Given the description of an element on the screen output the (x, y) to click on. 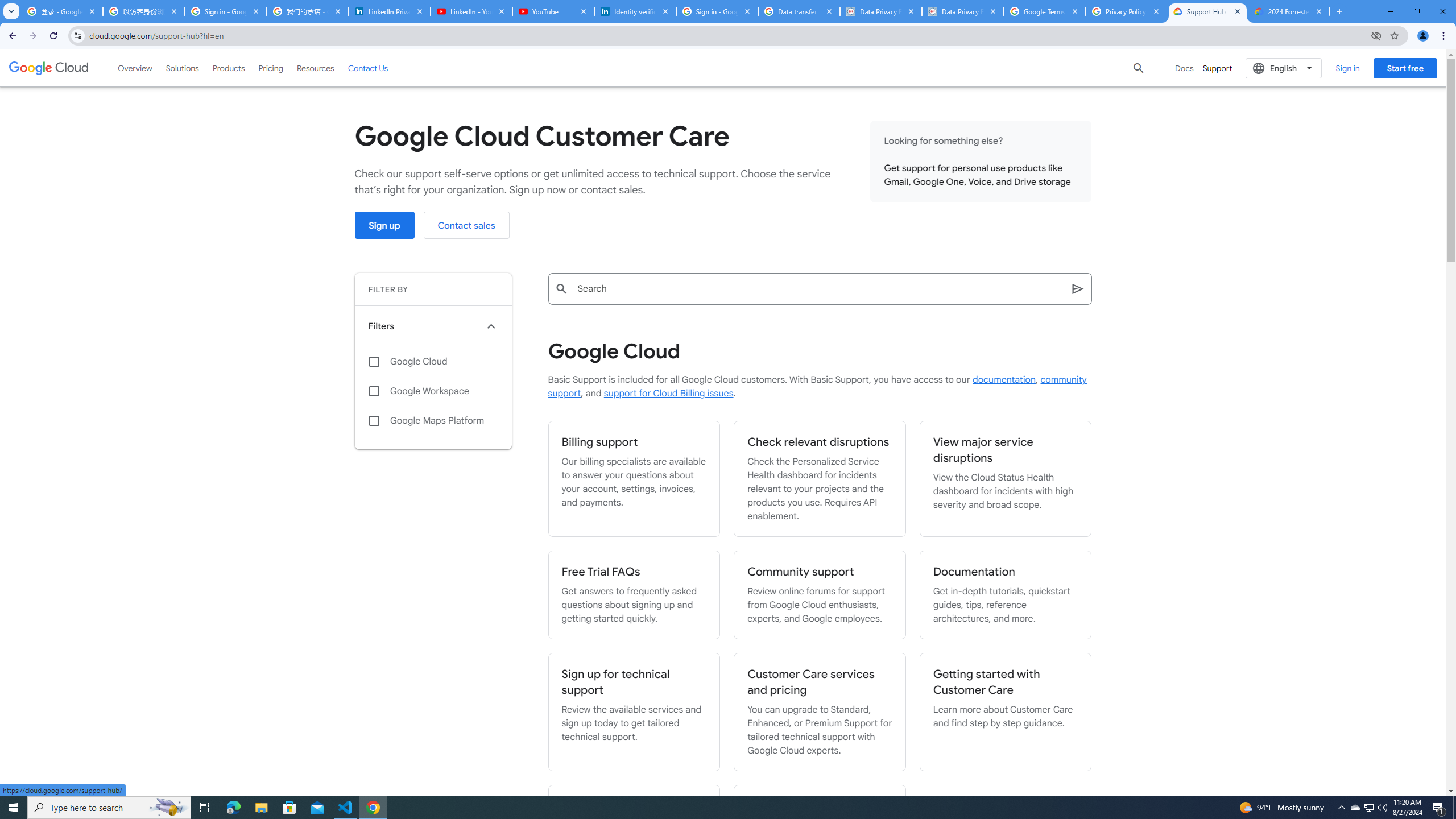
documentation (1004, 379)
Google Maps Platform (432, 420)
Docs (1183, 67)
